Given the description of an element on the screen output the (x, y) to click on. 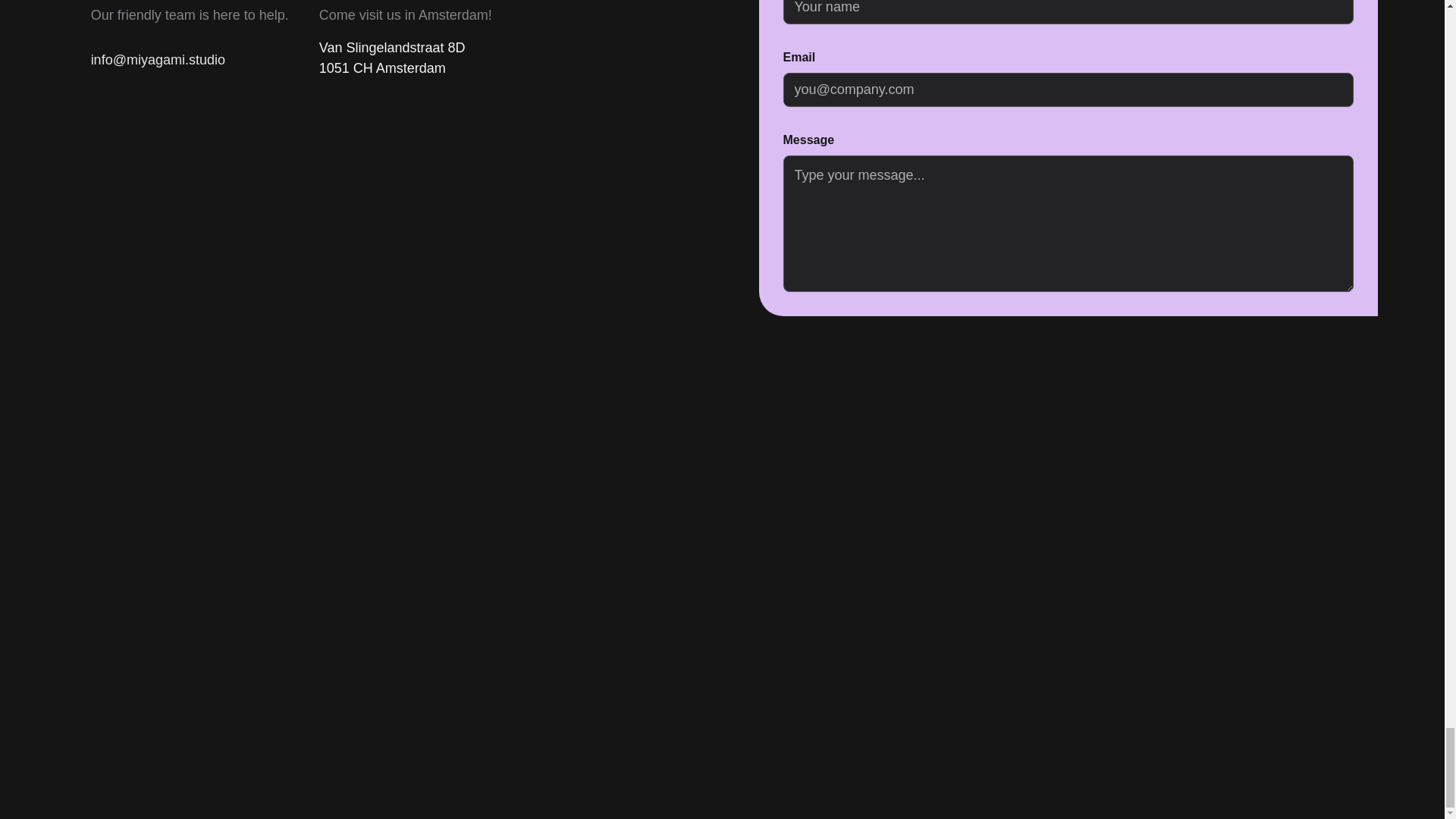
Come visit us in Amsterdam! (405, 14)
GET A QUOTE (1223, 333)
Our friendly team is here to help. (189, 14)
